Given the description of an element on the screen output the (x, y) to click on. 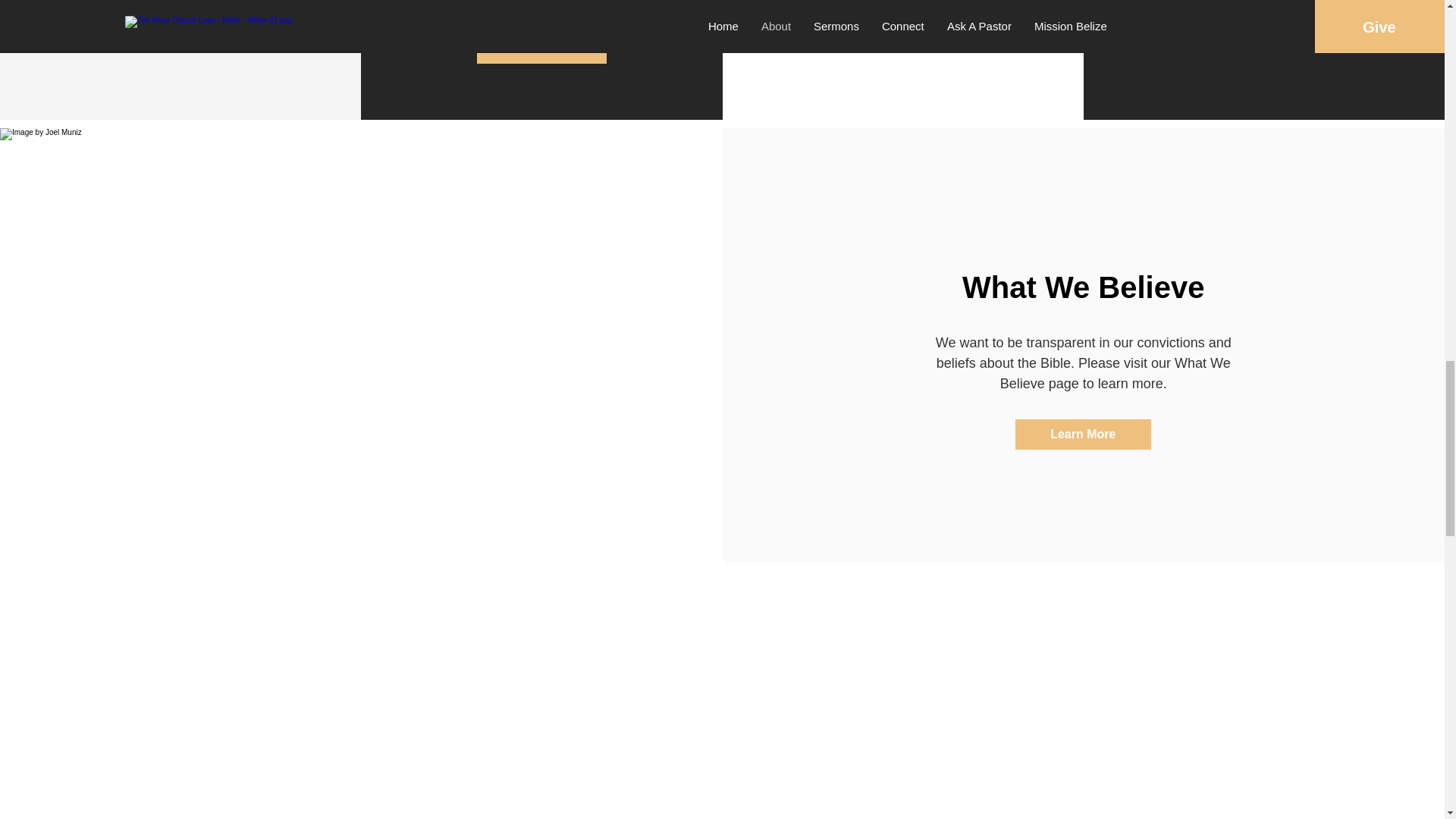
Learn More (1082, 434)
Get Directions (542, 48)
Watch Now (1262, 19)
